Given the description of an element on the screen output the (x, y) to click on. 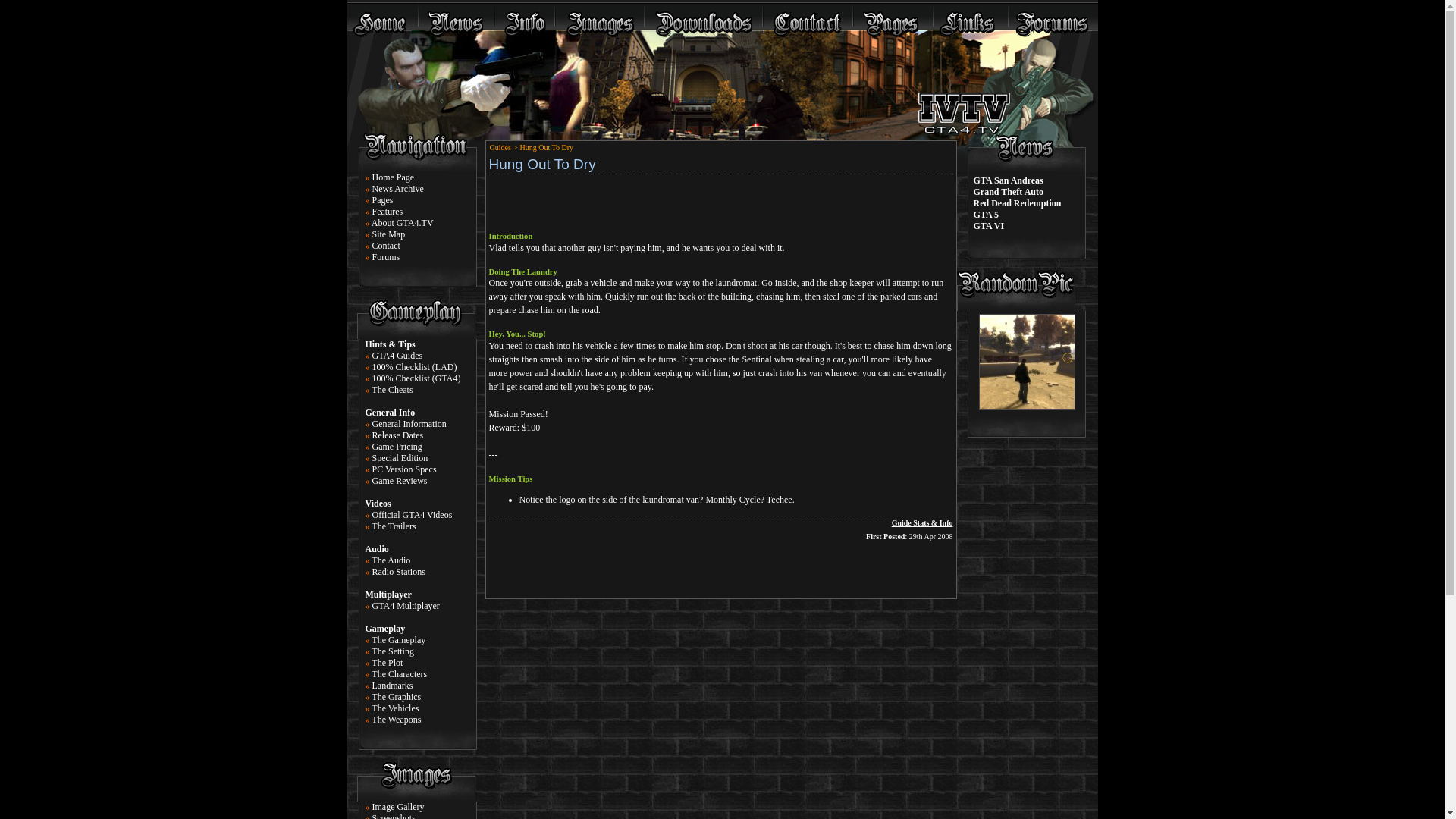
Advertisement (720, 200)
Official GTA4 Videos (411, 514)
GTA4.TV Image Gallery (599, 15)
About GTA4.TV (402, 222)
GTA4.TV Contact Us (807, 15)
GTA4.TV News (457, 15)
GTA4.TV Download Database (703, 15)
Special Edition (399, 457)
The Characters (398, 674)
Contact (384, 245)
